Given the description of an element on the screen output the (x, y) to click on. 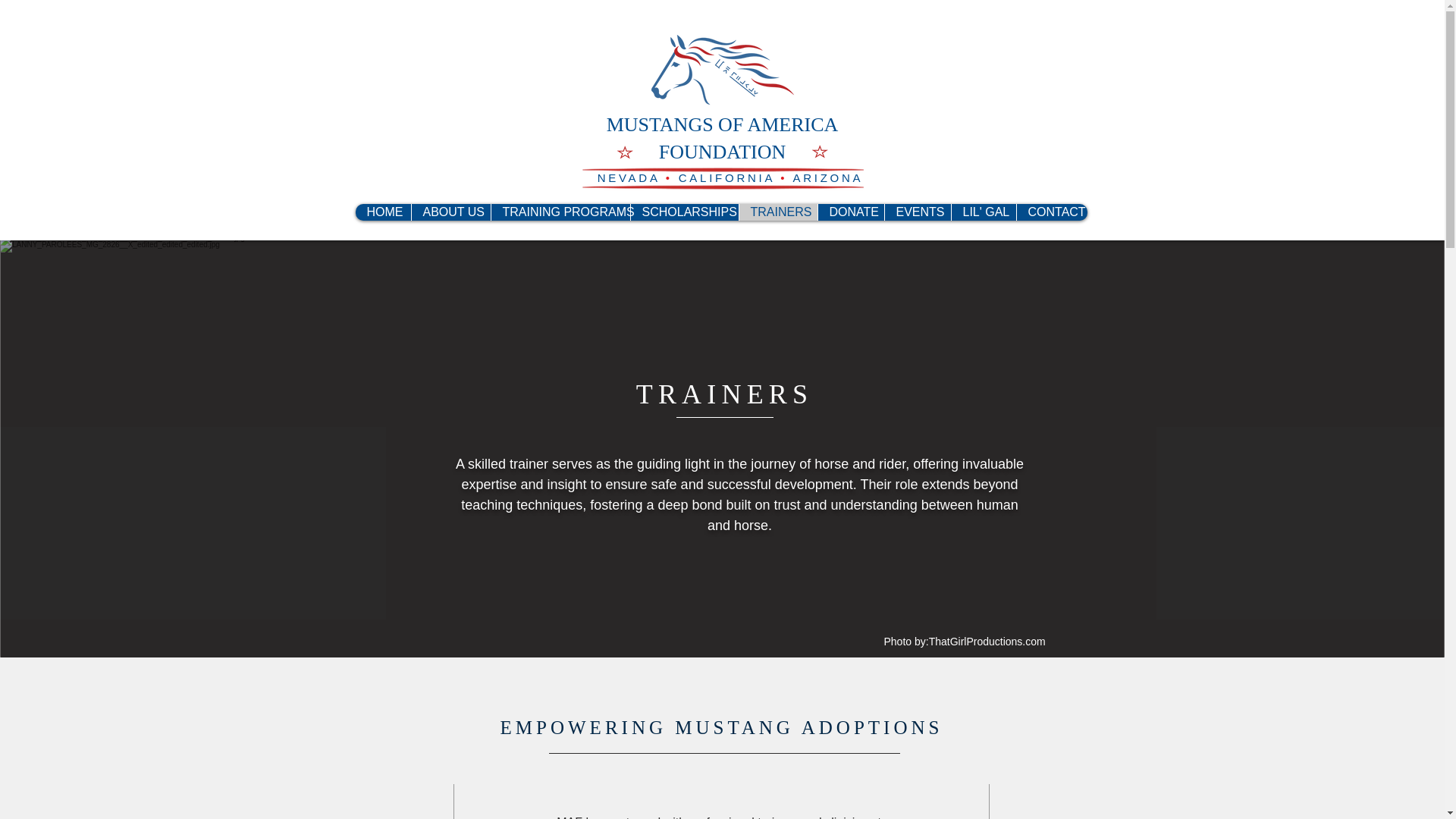
CONTACT (1051, 211)
HOME (382, 211)
SCHOLARSHIPS (683, 211)
DONATE (849, 211)
LIL' GAL (983, 211)
TRAINERS (777, 211)
ABOUT US (450, 211)
EVENTS (916, 211)
TRAINING PROGRAMS (558, 211)
